Given the description of an element on the screen output the (x, y) to click on. 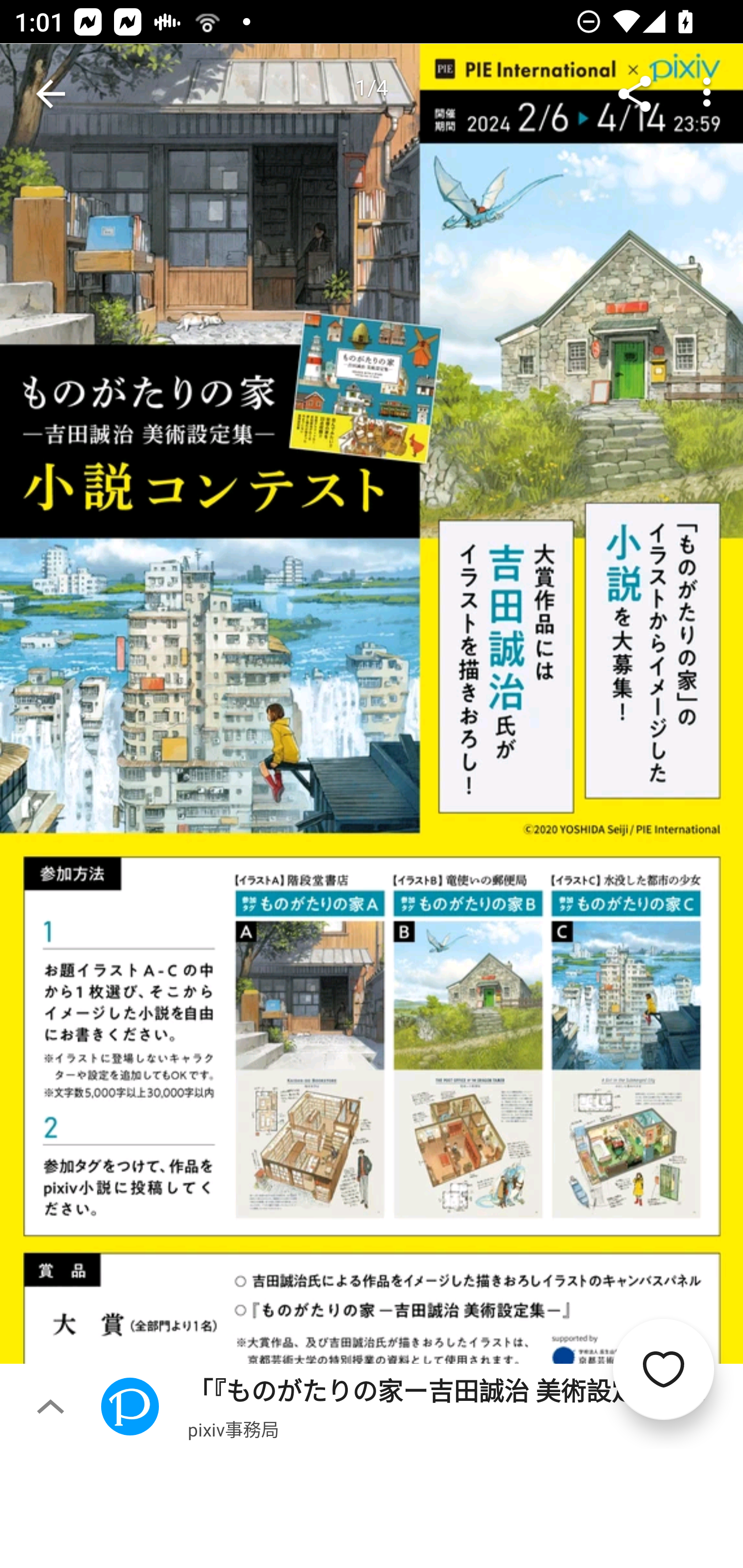
Share (634, 93)
More options (706, 93)
「『ものがたりの家ー吉田誠治 美術設定集ー』小説コンテスト」開催 pixiv事務局 (422, 1406)
pixiv事務局 (233, 1428)
